Given the description of an element on the screen output the (x, y) to click on. 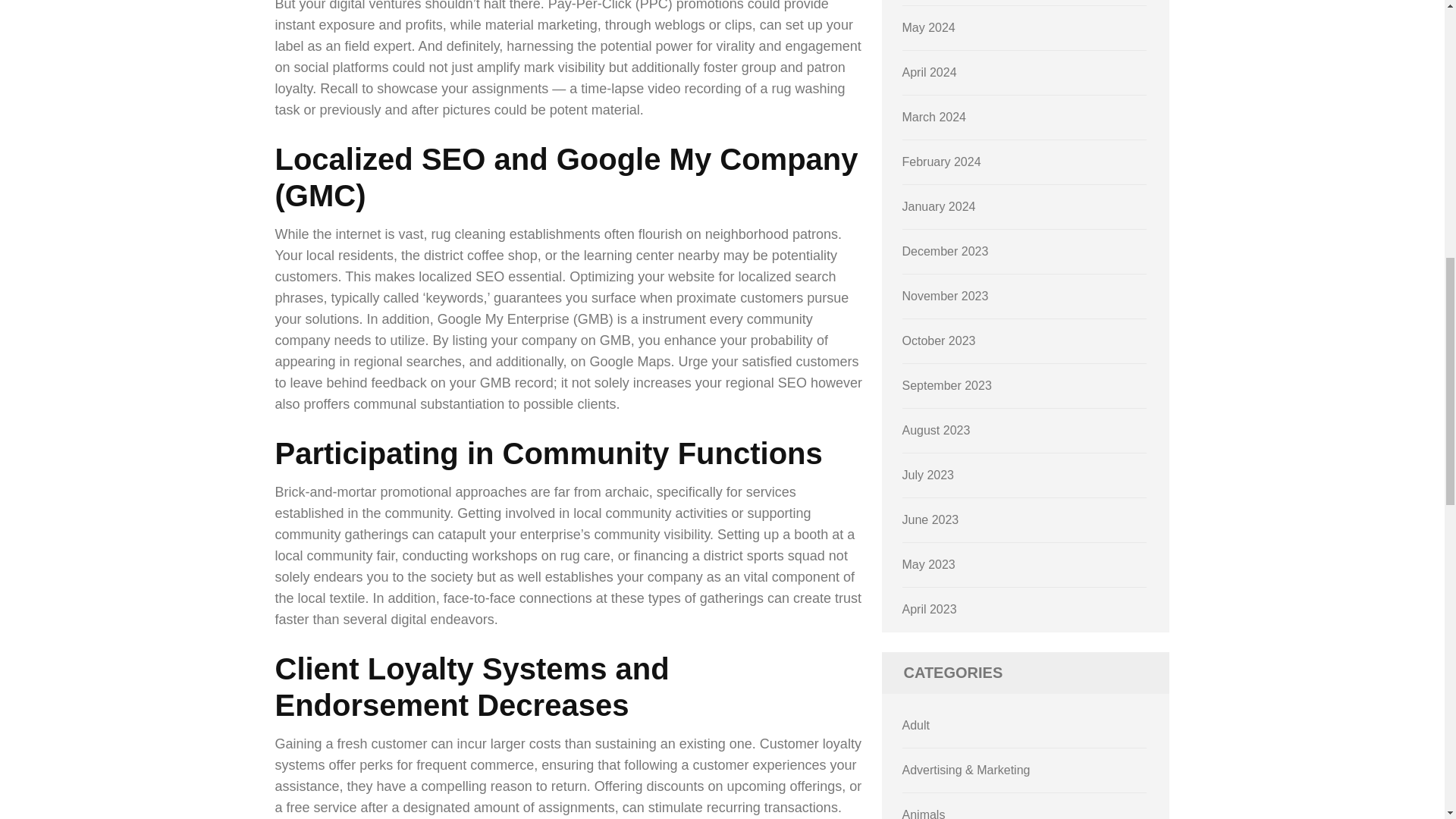
April 2023 (929, 608)
March 2024 (934, 116)
May 2023 (928, 563)
April 2024 (929, 72)
August 2023 (936, 430)
December 2023 (945, 250)
September 2023 (946, 385)
May 2024 (928, 27)
July 2023 (928, 474)
January 2024 (938, 205)
